Given the description of an element on the screen output the (x, y) to click on. 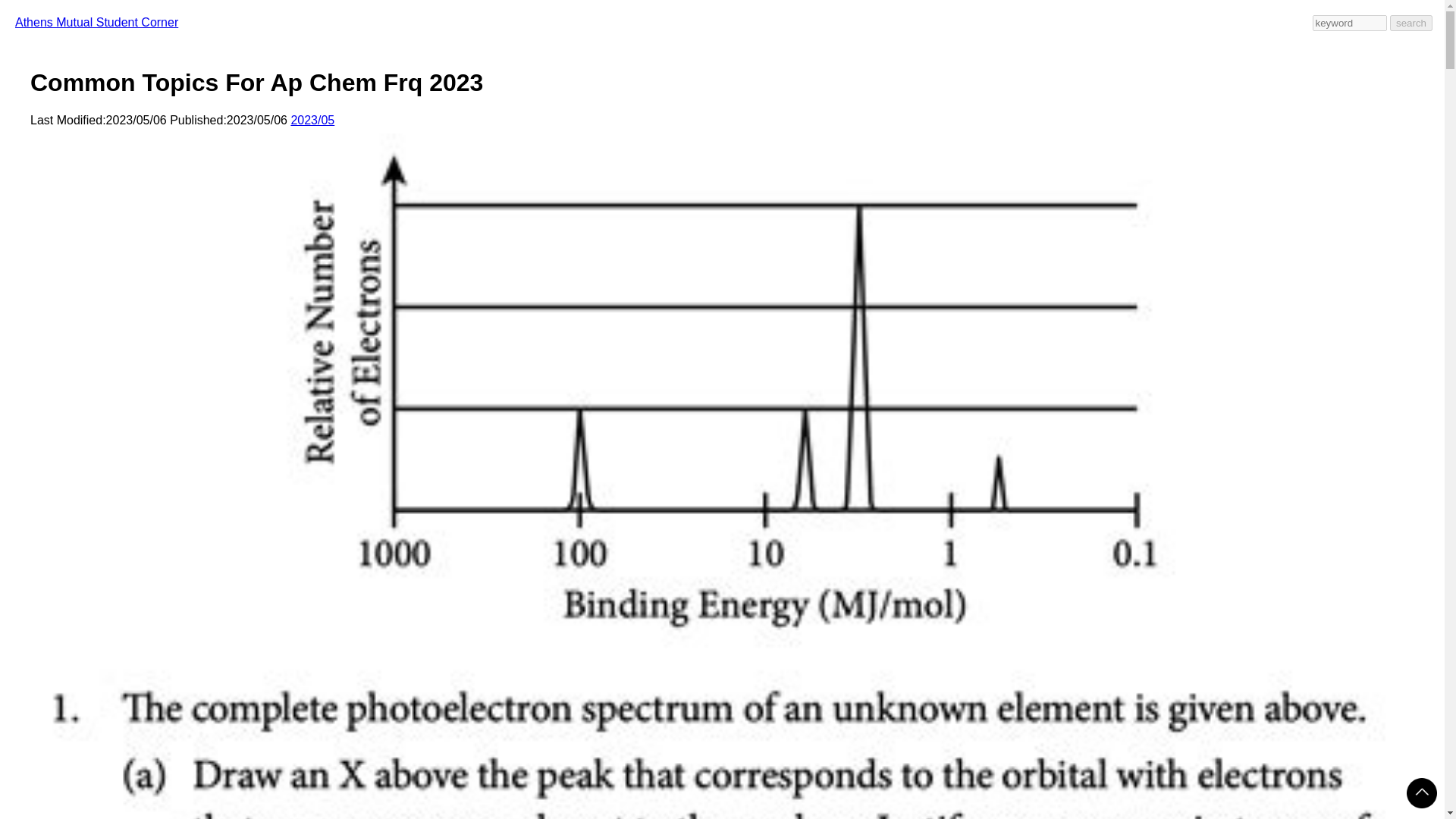
Athens Mutual Student Corner (95, 21)
search (1411, 23)
